Given the description of an element on the screen output the (x, y) to click on. 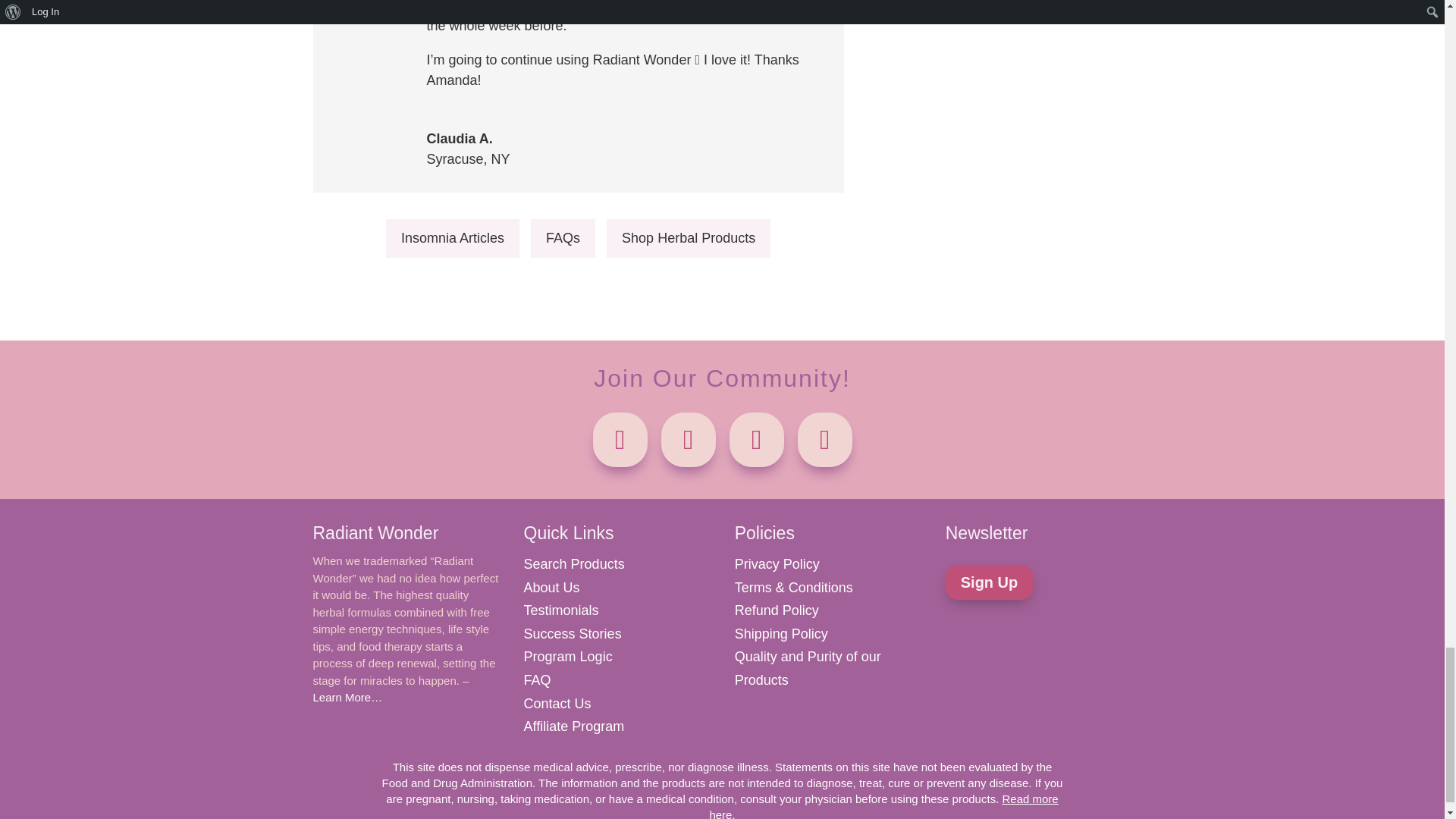
Follow on X (824, 439)
Follow on Facebook (619, 439)
Follow on Instagram (688, 439)
Follow on Youtube (756, 439)
